Given the description of an element on the screen output the (x, y) to click on. 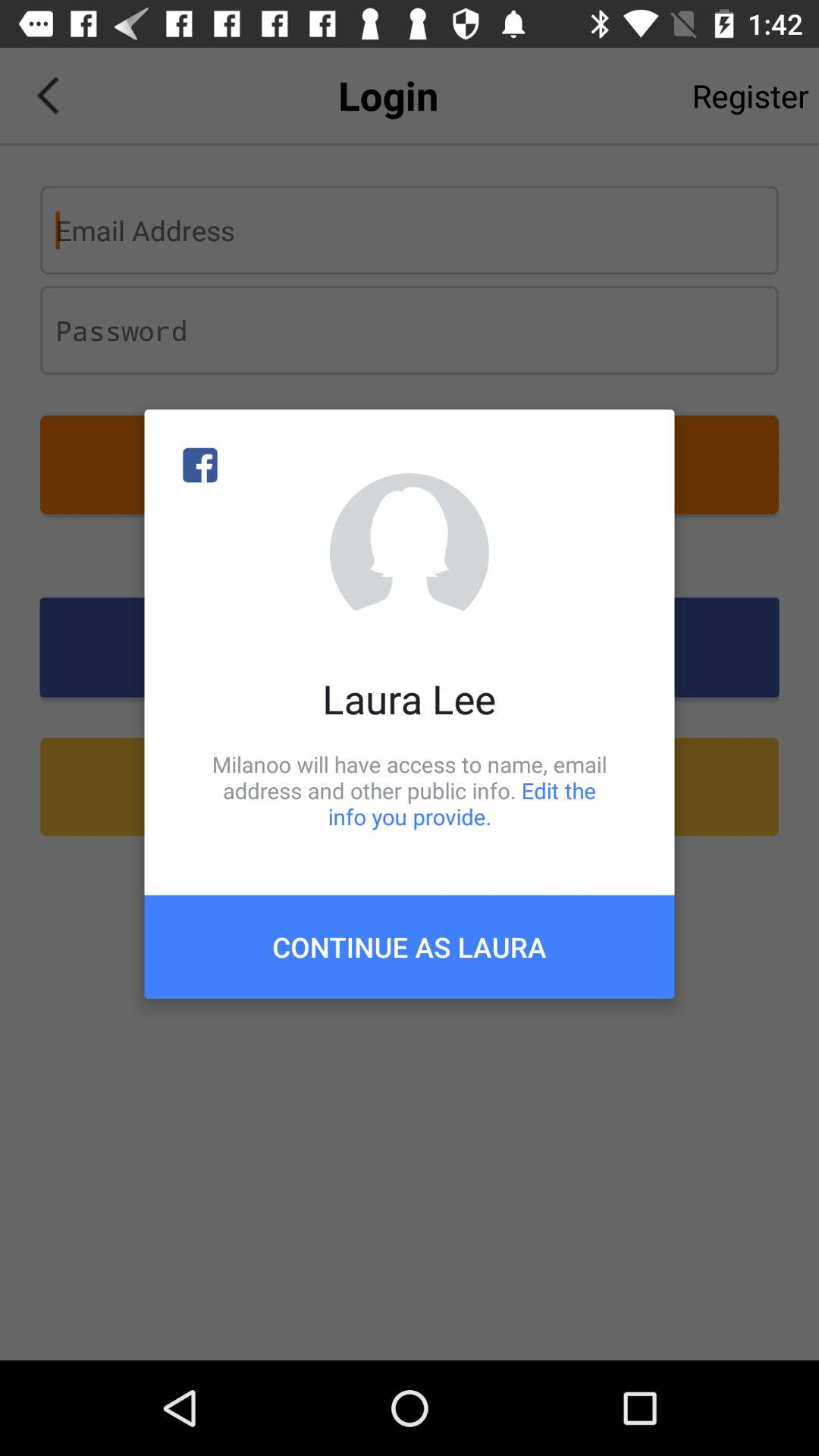
tap continue as laura item (409, 946)
